Given the description of an element on the screen output the (x, y) to click on. 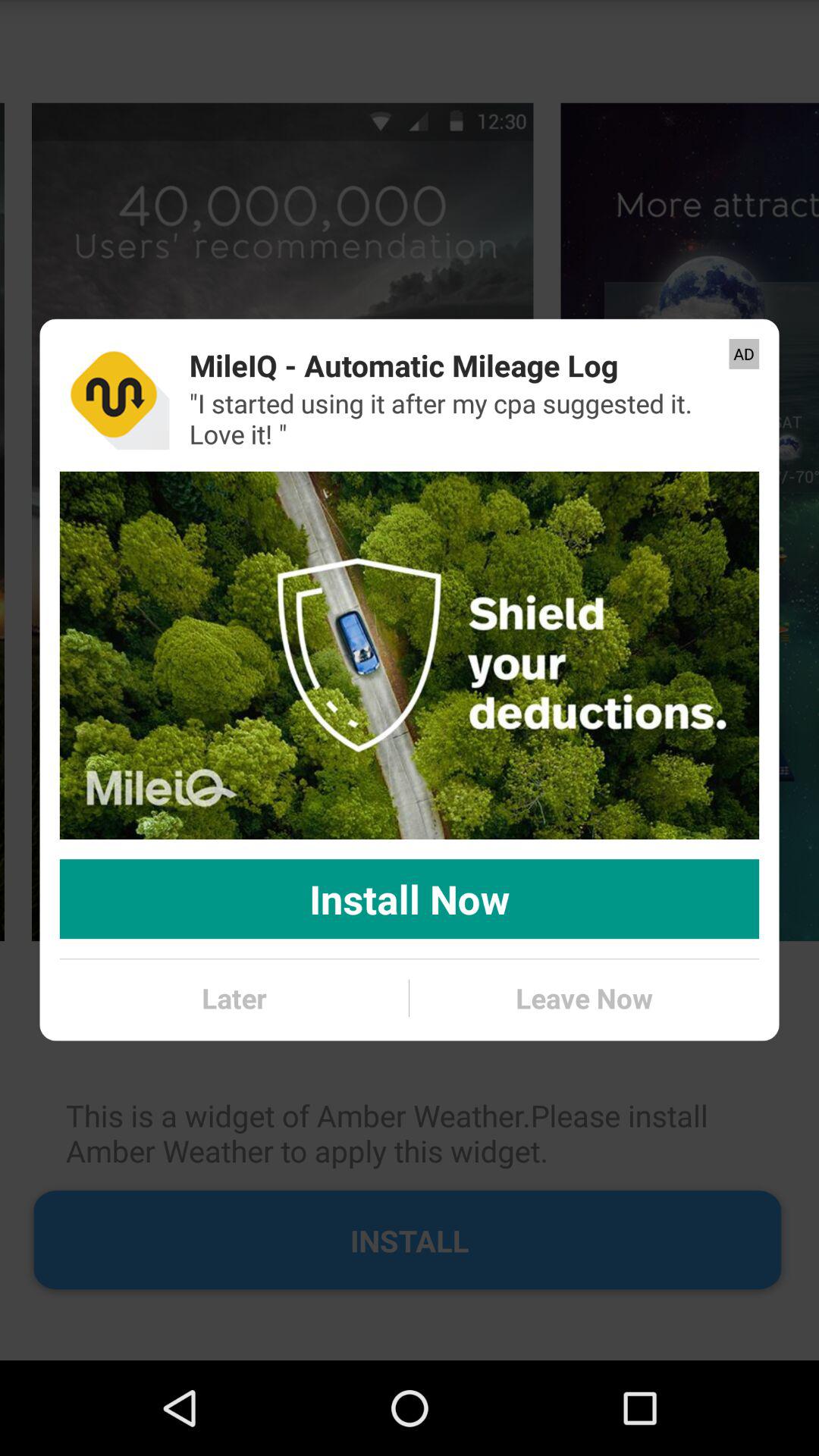
press the icon at the bottom right corner (584, 997)
